Given the description of an element on the screen output the (x, y) to click on. 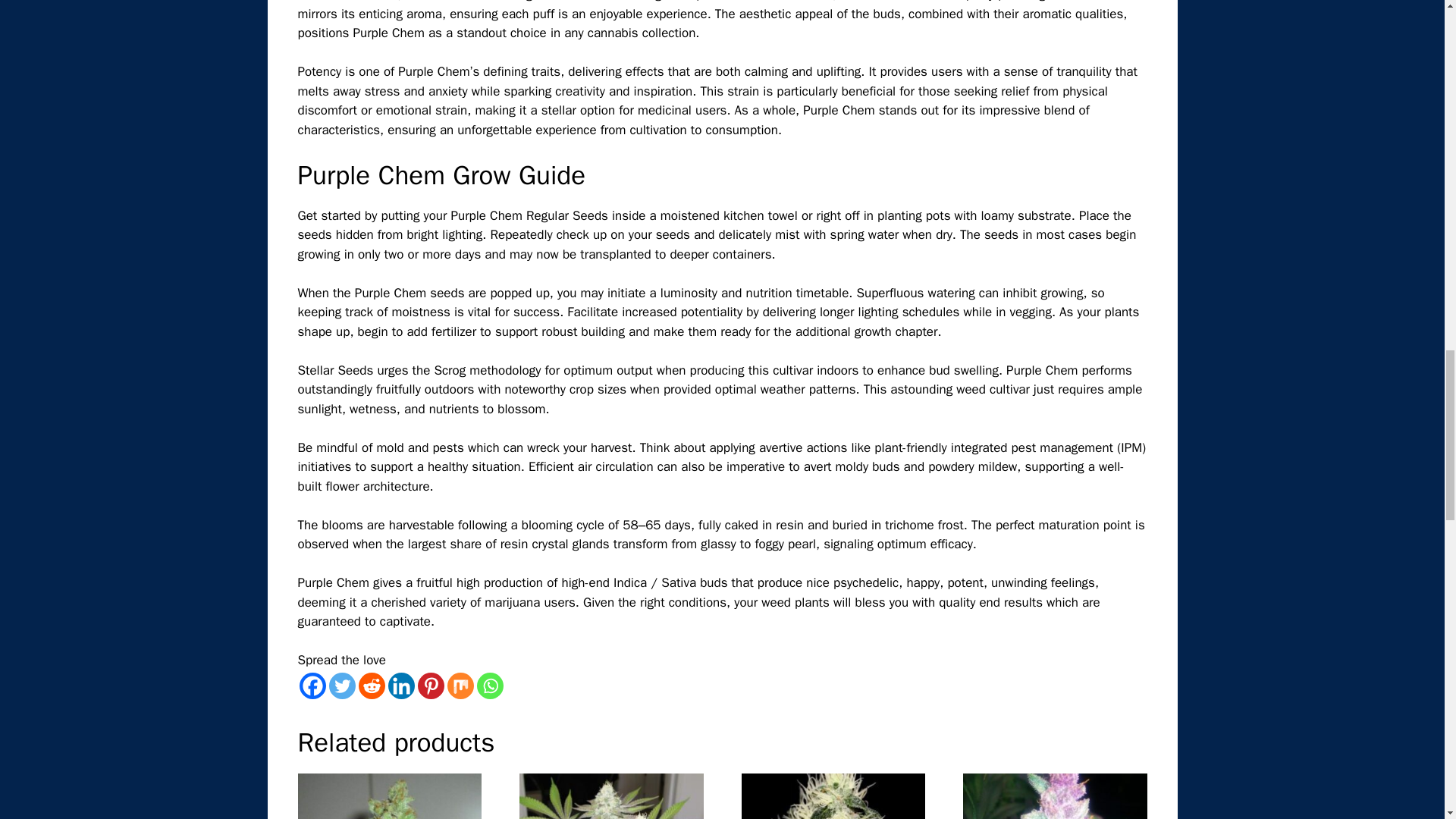
Reddit (371, 685)
Whatsapp (489, 685)
Pinterest (430, 685)
Mix (460, 685)
Facebook (311, 685)
Twitter (342, 685)
Linkedin (401, 685)
